Given the description of an element on the screen output the (x, y) to click on. 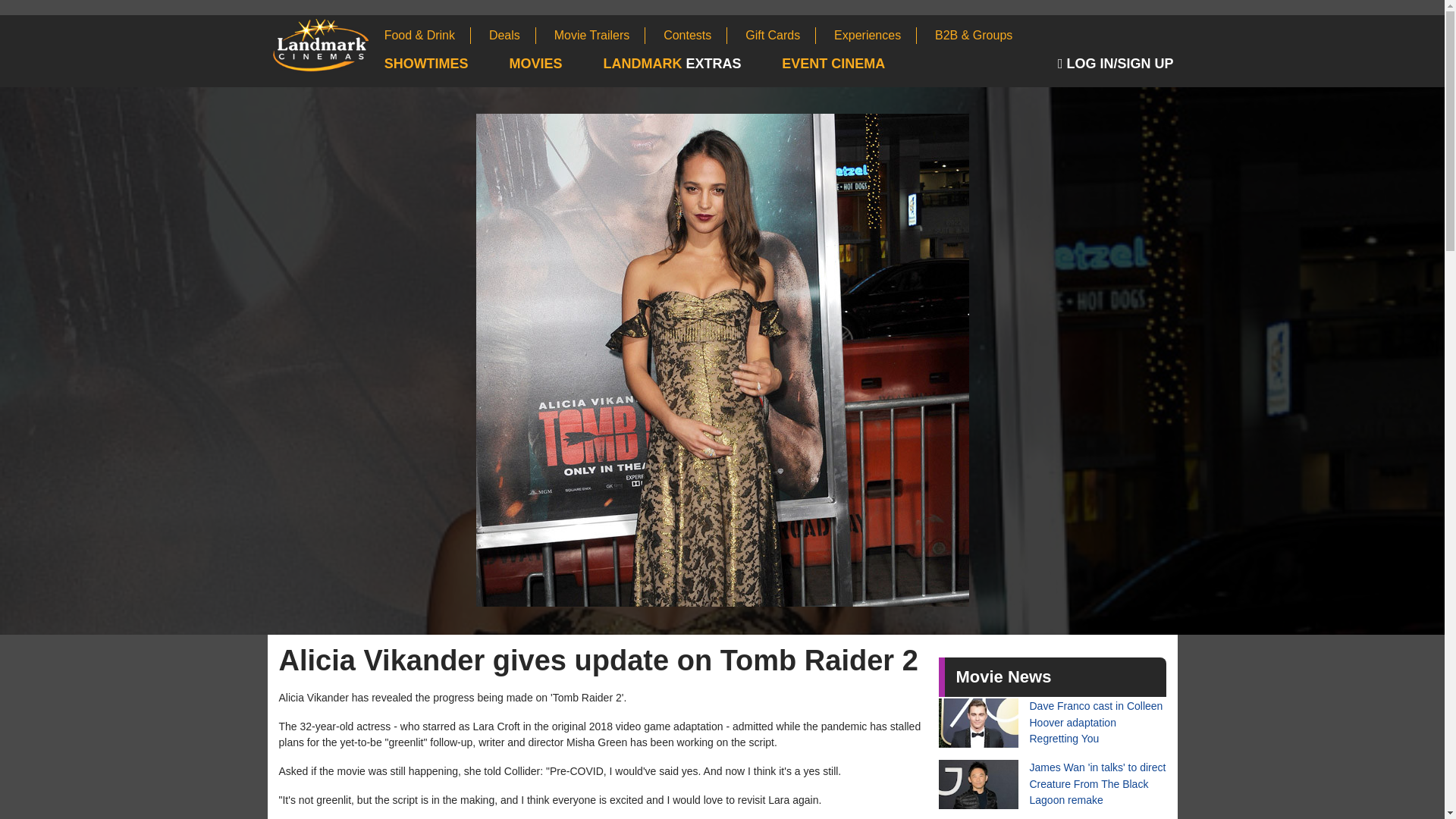
Browse Movie Deals (512, 35)
EVENT CINEMA (852, 64)
Event Cinema (852, 64)
SHOWTIMES (445, 64)
LANDMARK EXTRAS (690, 64)
Movie Experiences and PLF (875, 35)
MOVIES (554, 64)
Gift Cards (780, 35)
Movie News (1003, 676)
Contests (694, 35)
